Given the description of an element on the screen output the (x, y) to click on. 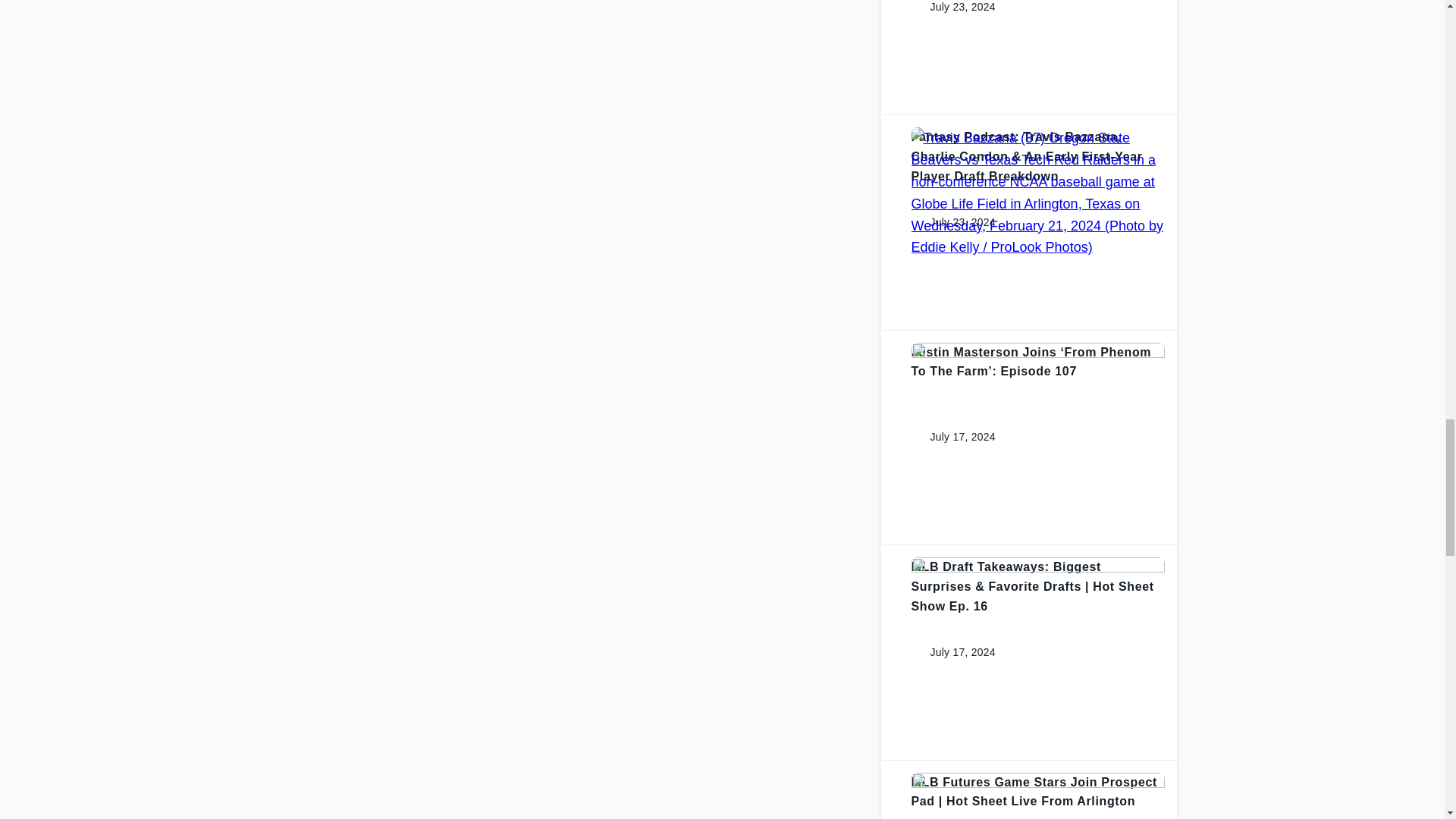
Post date (950, 7)
